Given the description of an element on the screen output the (x, y) to click on. 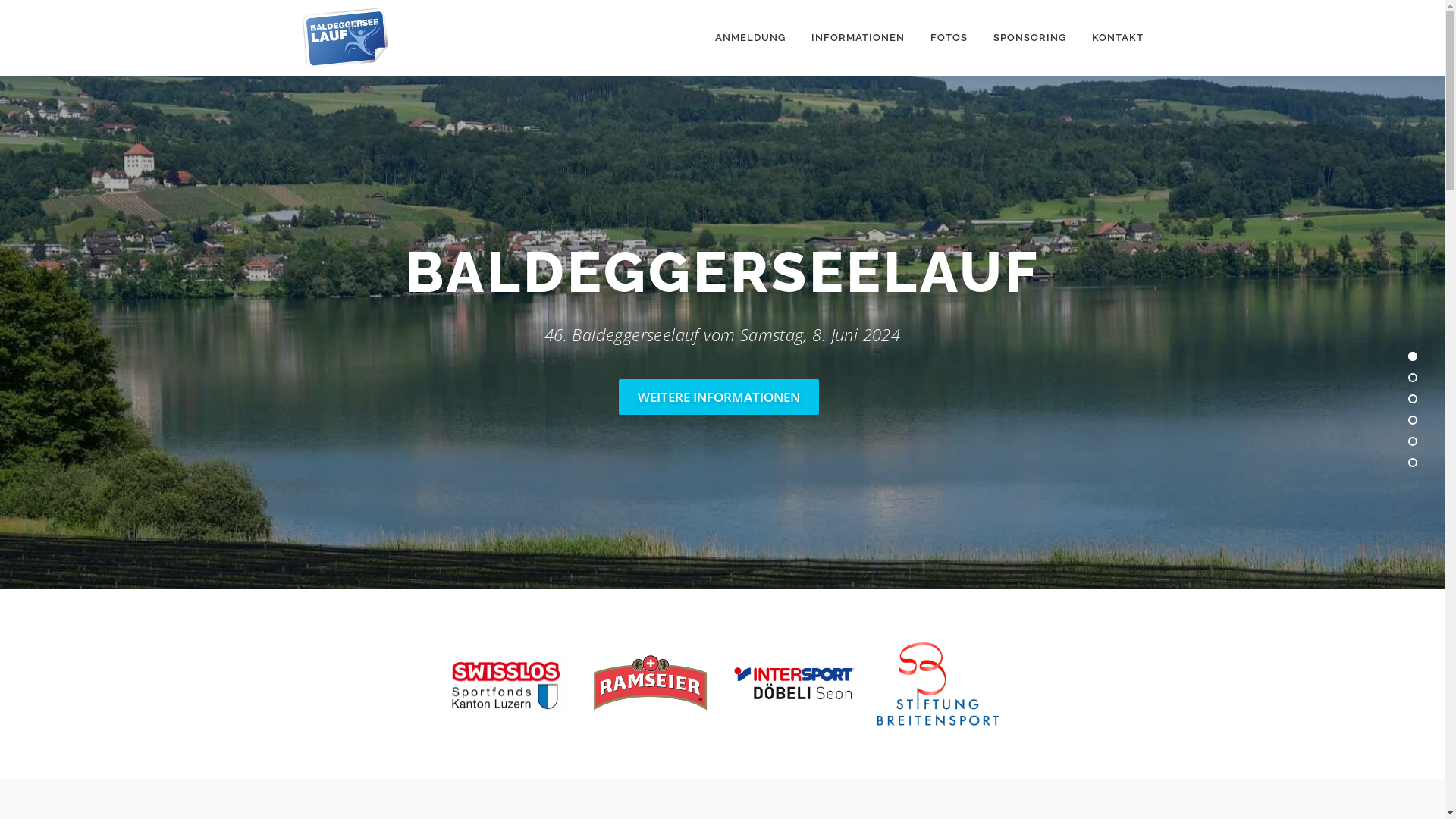
KONTAKT Element type: text (1110, 37)
SPONSORING Element type: text (1028, 37)
FOTOS Element type: text (948, 37)
ANMELDUNG Element type: text (750, 37)
INFORMATIONEN Element type: text (856, 37)
WEITERE INFORMATIONEN Element type: text (718, 396)
